Given the description of an element on the screen output the (x, y) to click on. 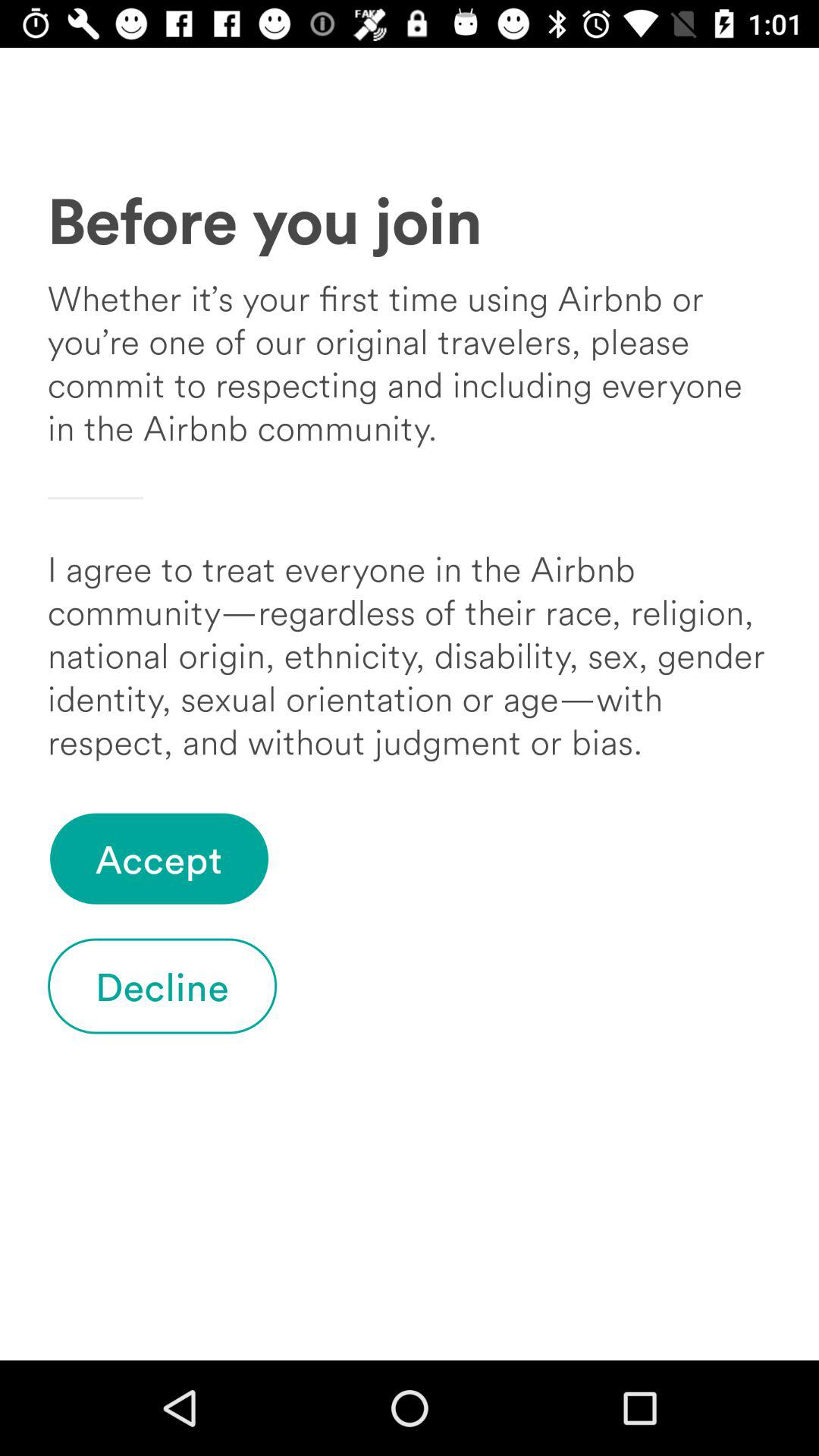
flip until the decline icon (161, 985)
